Given the description of an element on the screen output the (x, y) to click on. 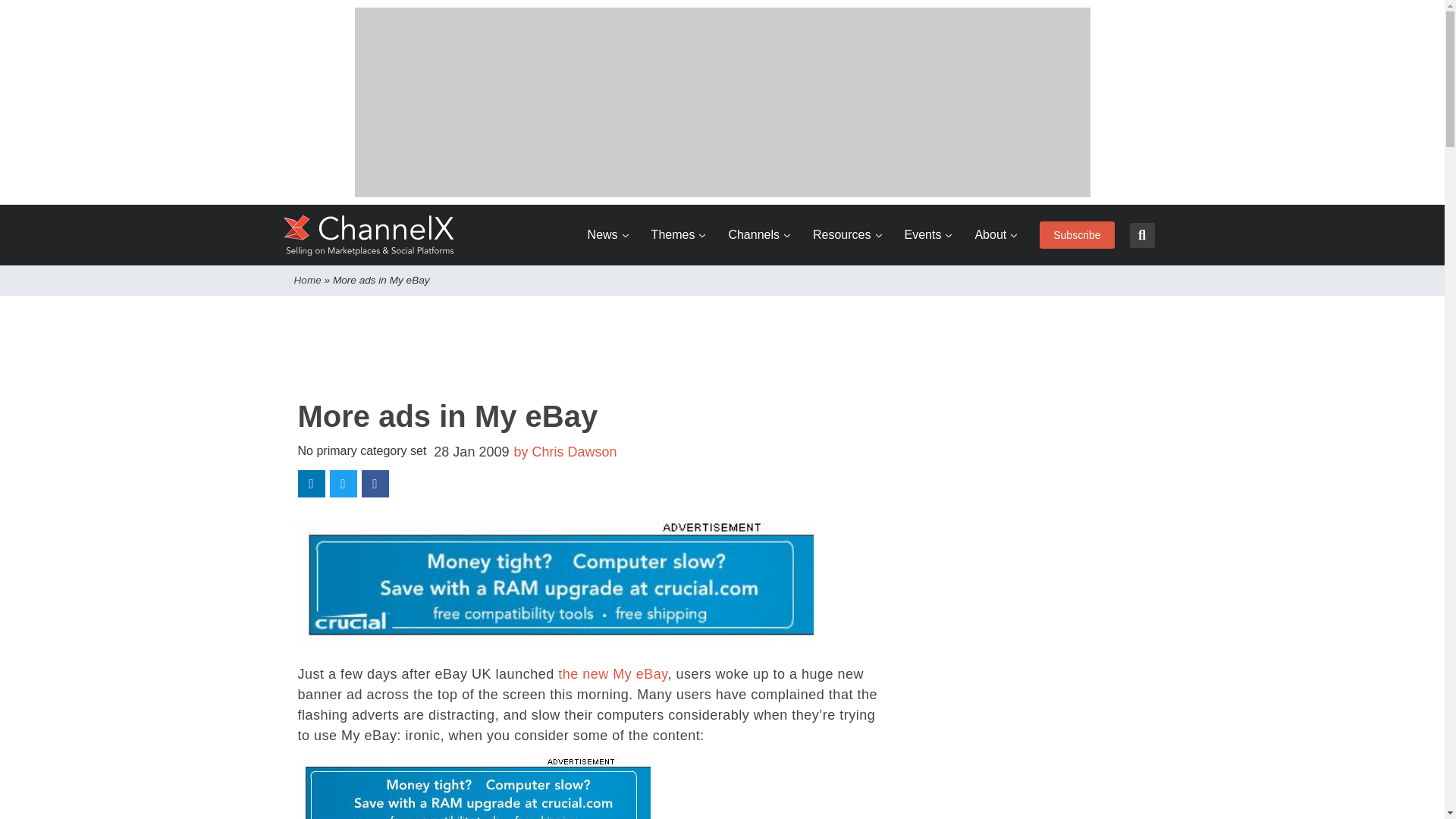
Themes (678, 234)
News (607, 234)
money tight? computer slow? (473, 787)
ChannelX Home Page (369, 234)
Channels (758, 234)
Resources (846, 234)
